Given the description of an element on the screen output the (x, y) to click on. 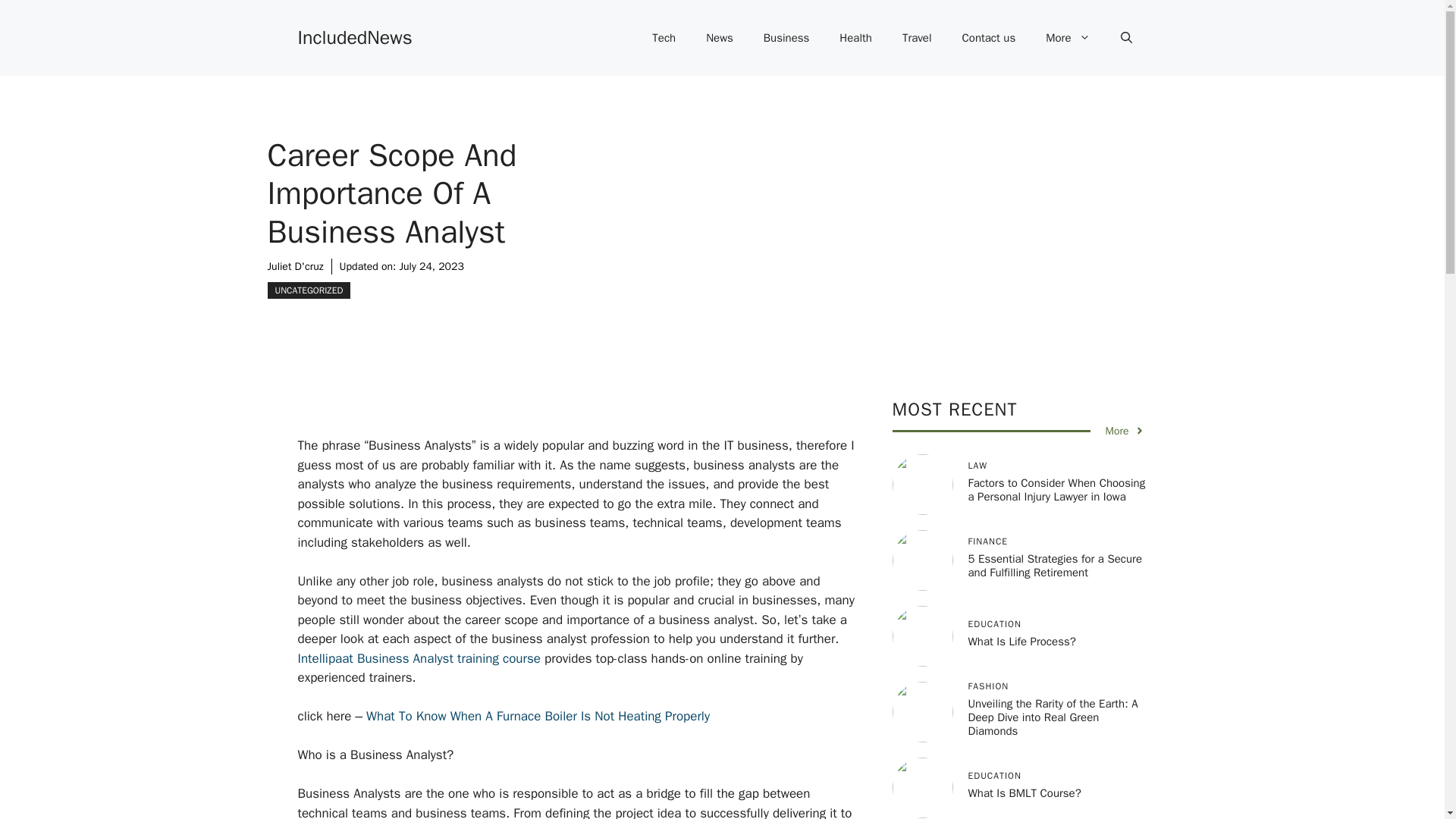
Health (855, 37)
What To Know When A Furnace Boiler Is Not Heating Properly (538, 715)
UNCATEGORIZED (308, 289)
Tech (663, 37)
Contact us (988, 37)
More (1124, 430)
More (1067, 37)
Travel (916, 37)
Intellipaat Business Analyst training course (418, 658)
